Given the description of an element on the screen output the (x, y) to click on. 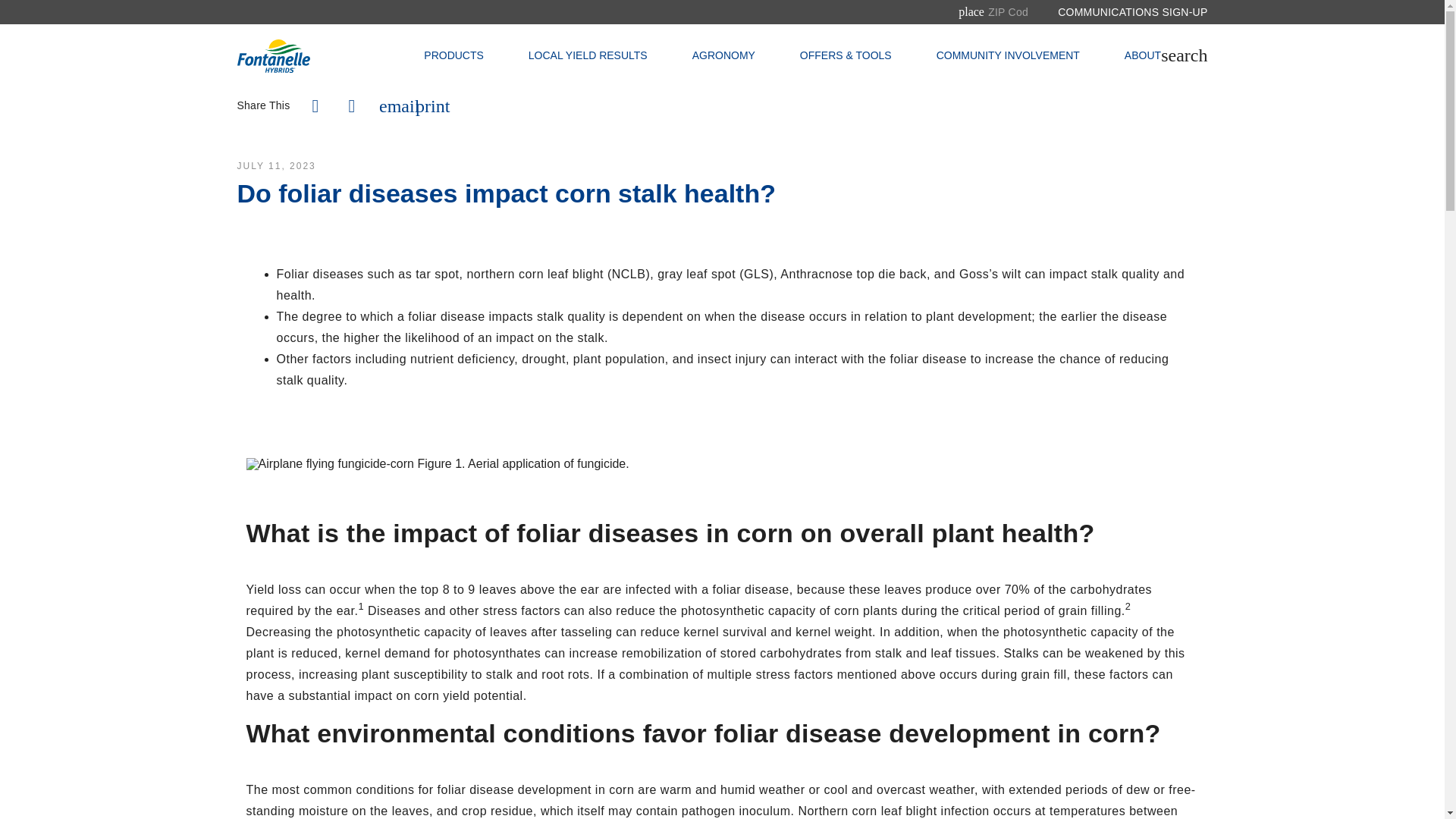
Share on Twitter (351, 105)
LOCAL YIELD RESULTS (587, 55)
COMMUNITY INVOLVEMENT (1008, 55)
PRODUCTS (453, 55)
COMMUNICATIONS SIGN-UP (1132, 12)
Share on Facebook (315, 105)
ABOUT (1142, 55)
AGRONOMY (723, 55)
search (1183, 54)
